Given the description of an element on the screen output the (x, y) to click on. 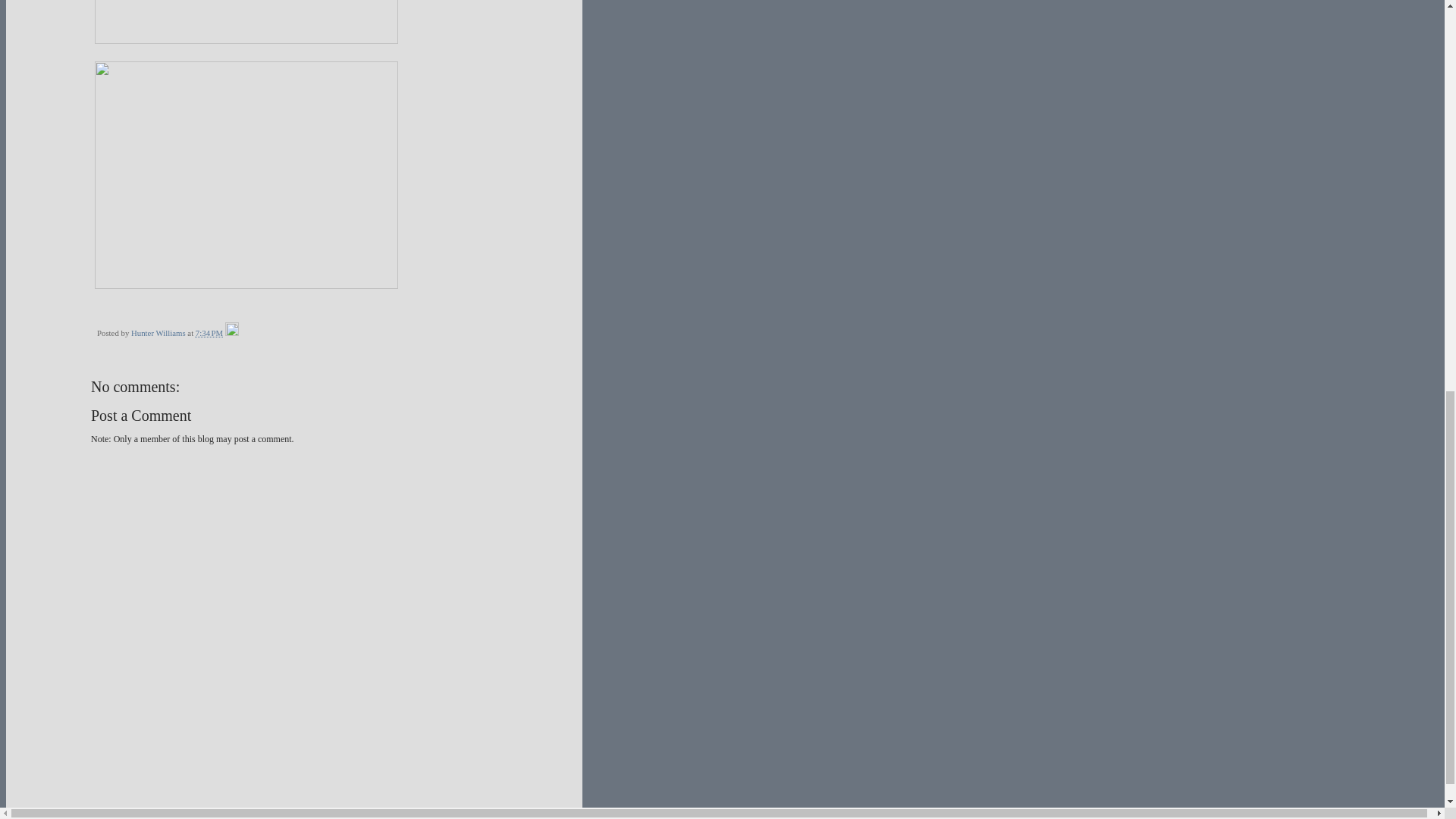
author profile (159, 332)
permanent link (208, 332)
Edit Post (231, 332)
Hunter Williams (159, 332)
